Given the description of an element on the screen output the (x, y) to click on. 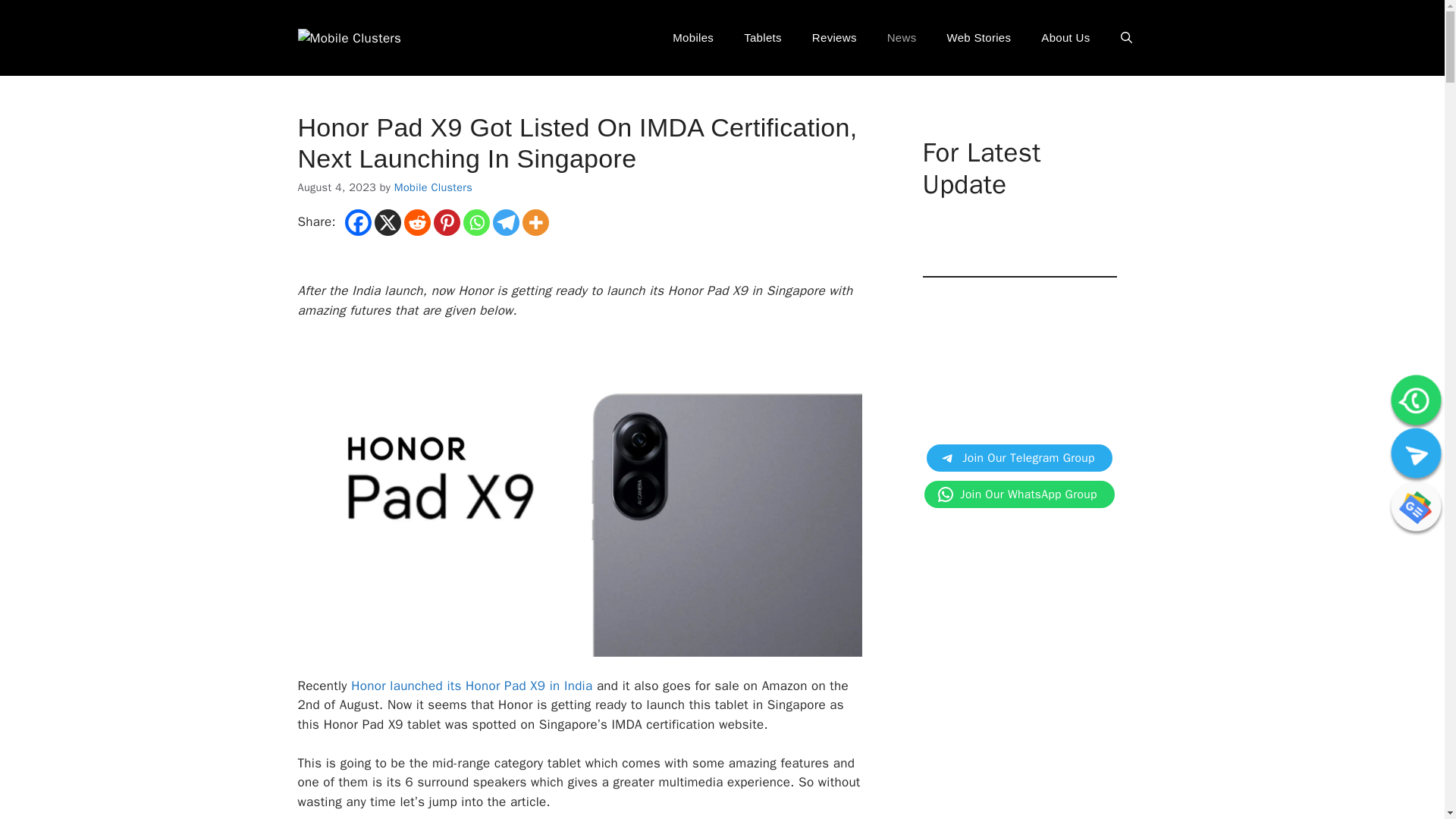
X (387, 222)
Mobile Clusters (432, 187)
Reddit (417, 222)
About Us (1065, 37)
Facebook (358, 222)
News (901, 37)
Web Stories (978, 37)
Tablets (762, 37)
Mobiles (693, 37)
Reviews (834, 37)
Honor launched its Honor Pad X9 in India (471, 685)
Whatsapp (476, 222)
Telegram (506, 222)
More (535, 222)
Pinterest (446, 222)
